Given the description of an element on the screen output the (x, y) to click on. 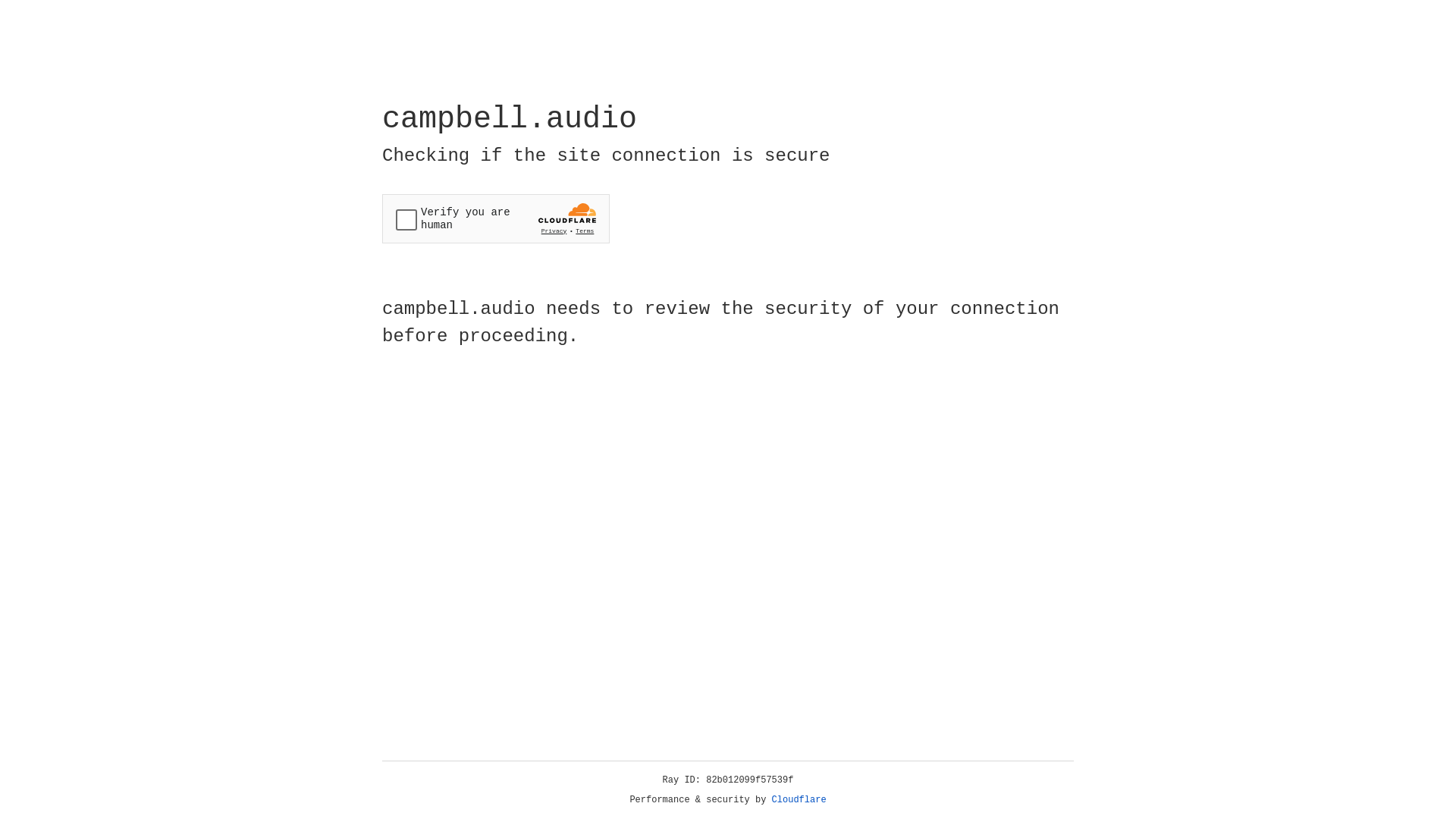
Widget containing a Cloudflare security challenge Element type: hover (495, 218)
Cloudflare Element type: text (798, 799)
